Given the description of an element on the screen output the (x, y) to click on. 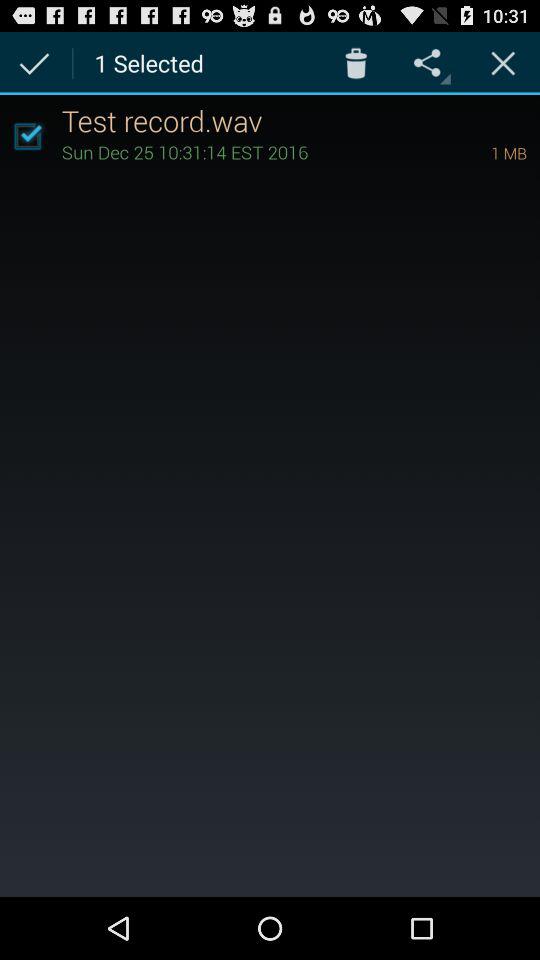
scroll until the sun dec 25 app (248, 151)
